Given the description of an element on the screen output the (x, y) to click on. 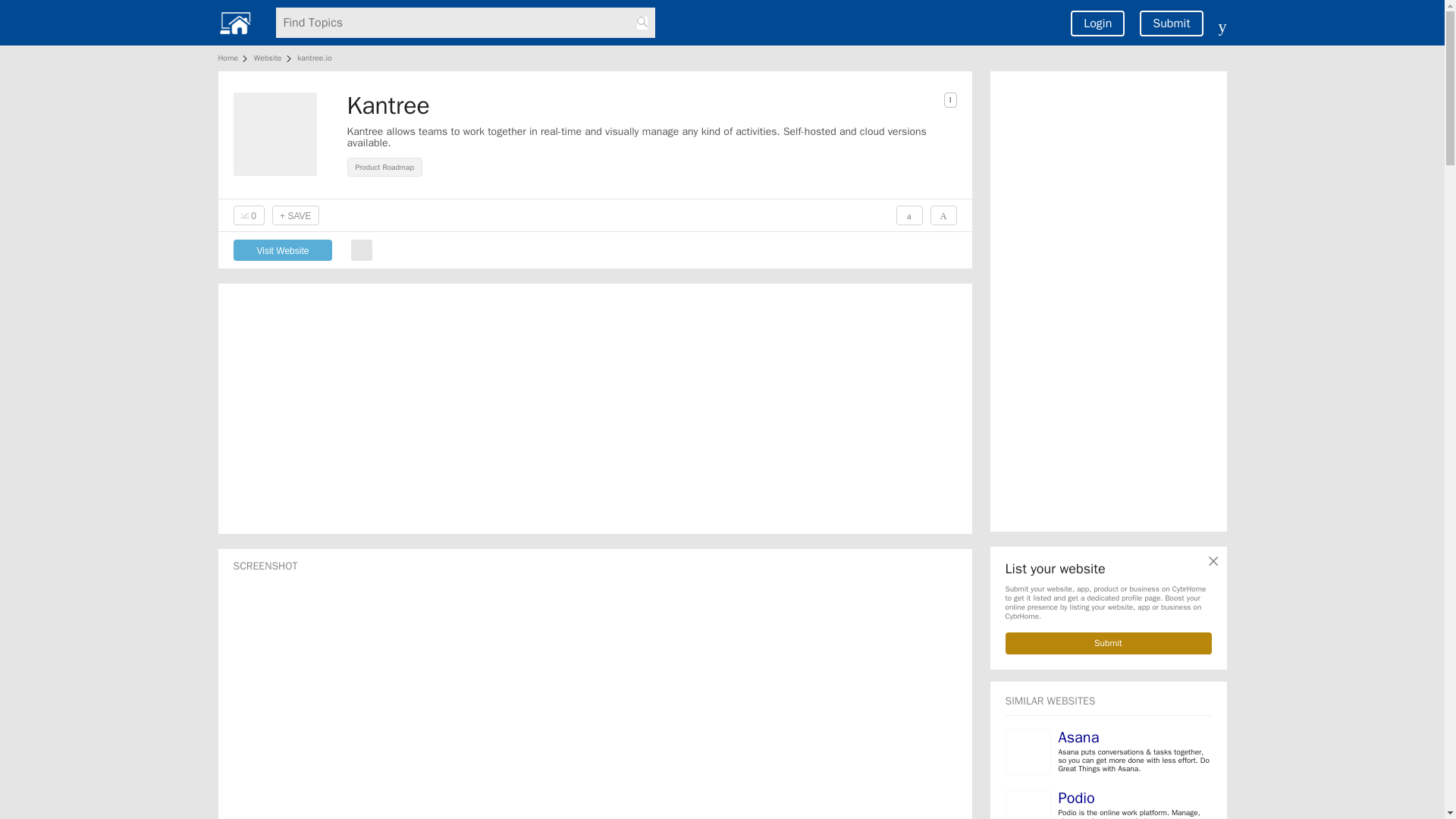
0 (248, 215)
Home (230, 57)
Login (1097, 23)
Submit (1171, 23)
Submit (1108, 643)
Podio (1076, 797)
Visit Website (282, 250)
Product Roadmap (386, 165)
Twitter (361, 249)
Asana (1078, 737)
